Given the description of an element on the screen output the (x, y) to click on. 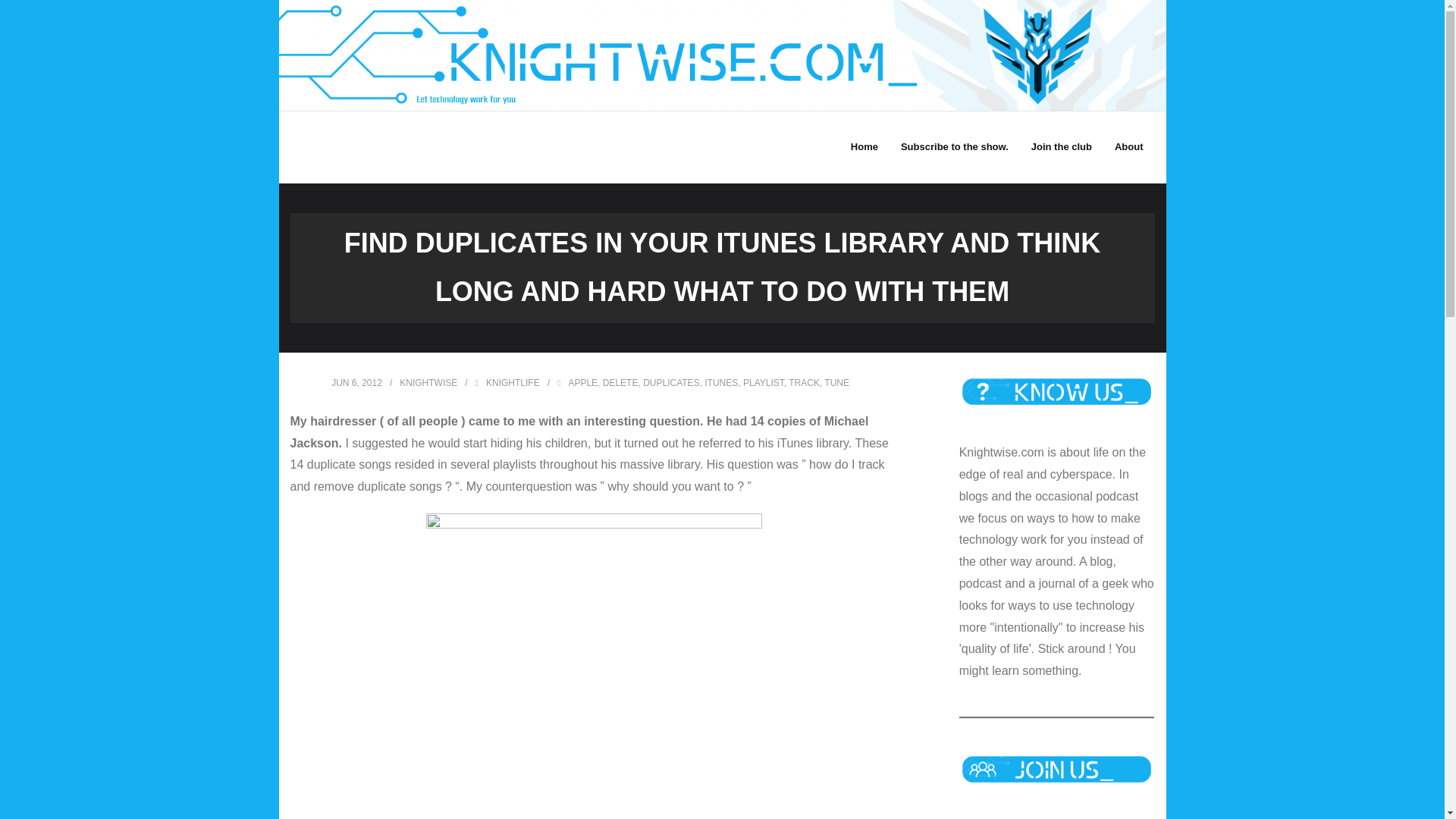
KNIGHTLIFE (513, 382)
TRACK (804, 382)
DELETE (620, 382)
PLAYLIST (763, 382)
ITUNES (721, 382)
Join the club (1061, 146)
Home (864, 146)
DUPLICATES (670, 382)
JUN 6, 2012 (356, 382)
APPLE (581, 382)
About (1128, 146)
TUNE (836, 382)
KNIGHTWISE (427, 382)
a (593, 666)
View all posts by knightwise (427, 382)
